Given the description of an element on the screen output the (x, y) to click on. 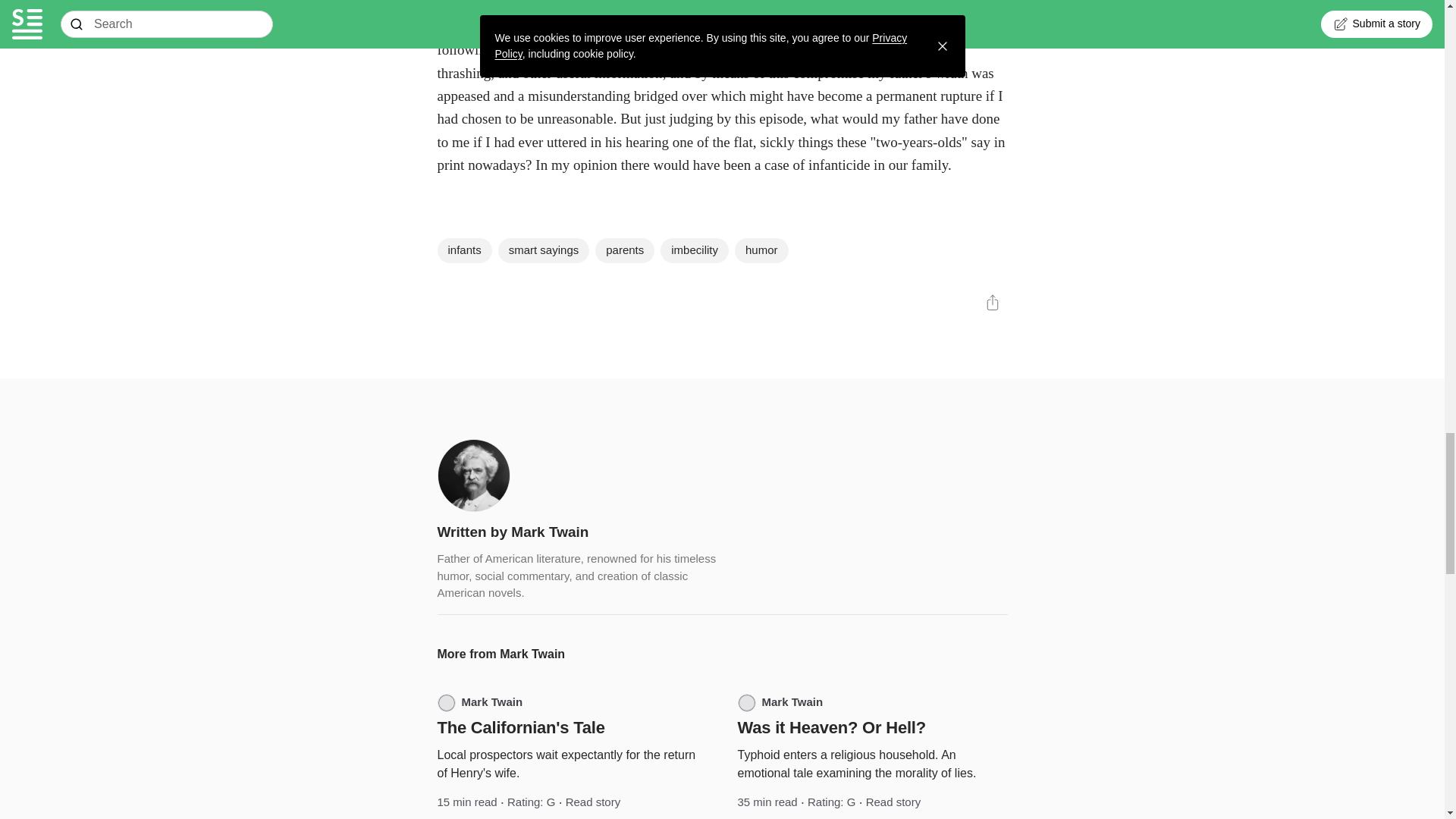
Find stories around 15 mins long (466, 802)
smart sayings (543, 250)
imbecility (695, 250)
Mark Twain (779, 702)
Written by Mark Twain (512, 532)
Read story (593, 802)
The Californian's Tale (520, 727)
35 min read (766, 802)
parents (624, 250)
humor (762, 250)
Read story (893, 802)
Find stories around 35 mins long (766, 802)
Was it Heaven? Or Hell? (830, 727)
Mark Twain (479, 702)
15 min read (466, 802)
